Given the description of an element on the screen output the (x, y) to click on. 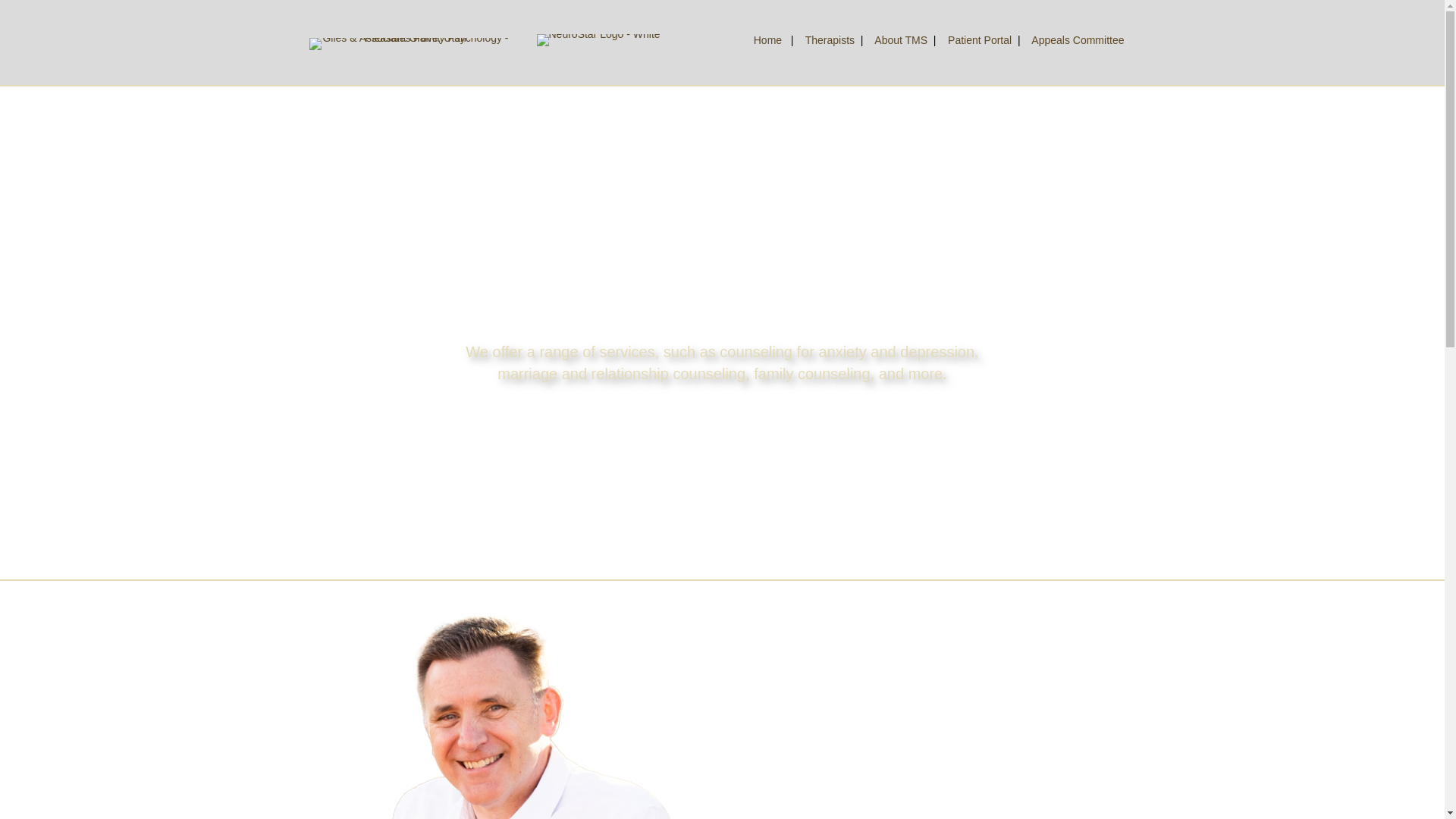
Appeals Committee (1077, 39)
NeuroStar Logo - White (599, 39)
Therapists (829, 39)
About TMS (901, 39)
dr-geret-giles (513, 714)
Patient Portal (979, 39)
Home (767, 39)
